Given the description of an element on the screen output the (x, y) to click on. 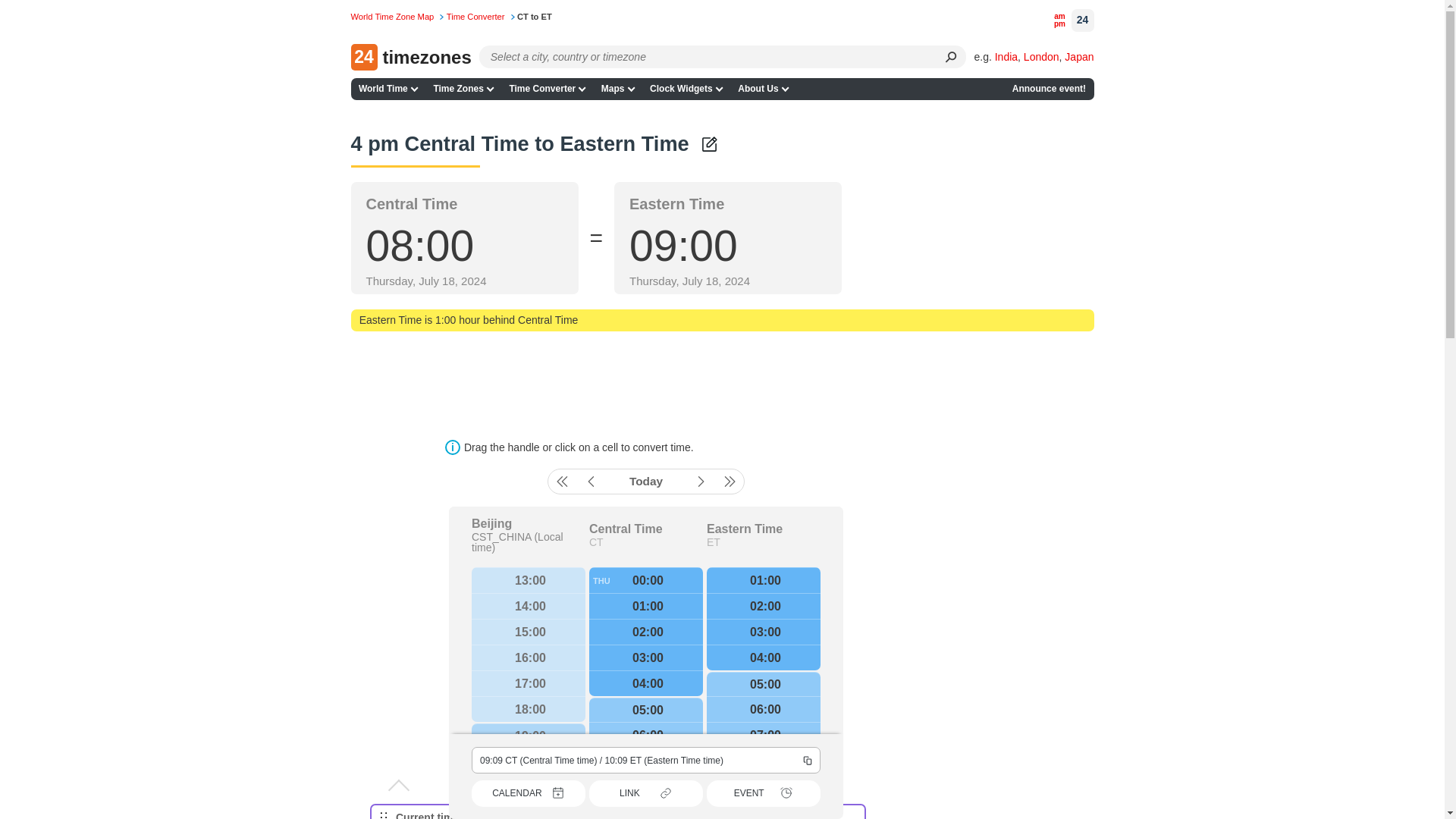
world time (387, 88)
Japan (1078, 56)
24TimeZones.com (410, 57)
London (1041, 56)
Maps (617, 88)
Time Converter (546, 88)
India (1005, 56)
24 timezones (410, 57)
Time Converter (480, 16)
Time Zones (462, 88)
World Clock (397, 16)
time zones (462, 88)
CT to ET (533, 16)
World Time Zone Map (397, 16)
World Time (387, 88)
